Given the description of an element on the screen output the (x, y) to click on. 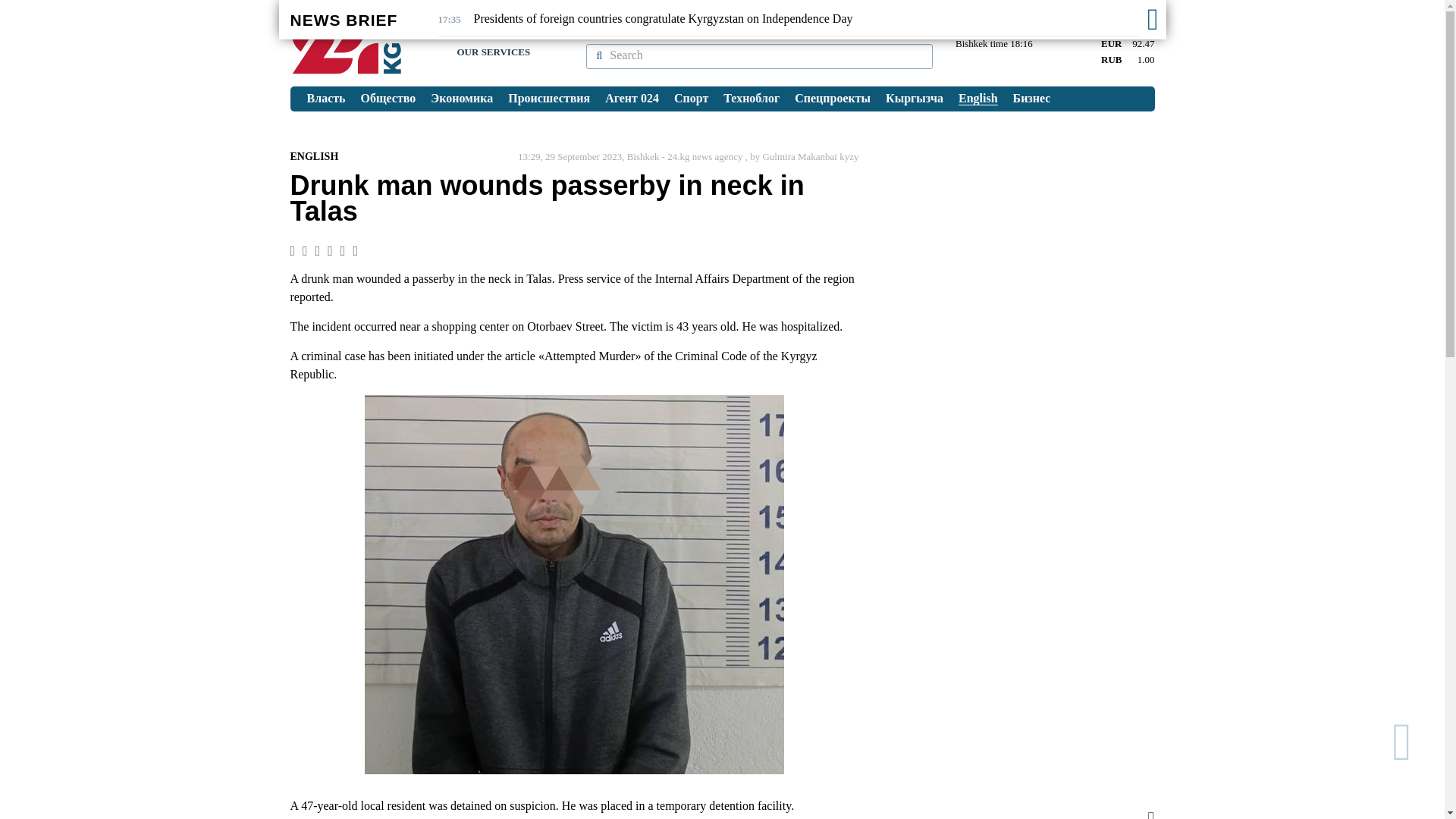
English (978, 98)
ENGLISH (313, 156)
OUR SERVICES (493, 51)
